Given the description of an element on the screen output the (x, y) to click on. 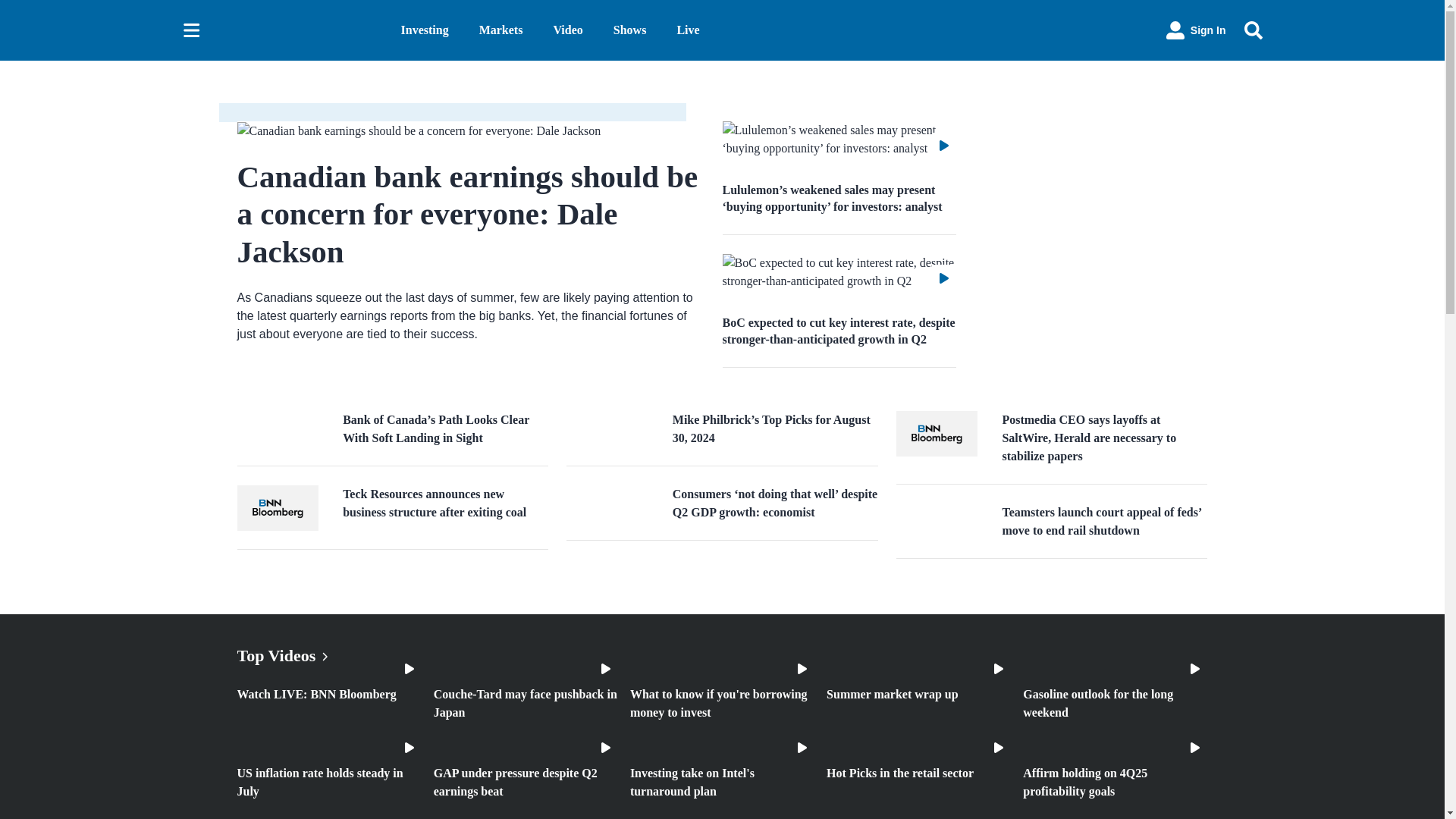
Sign In (1195, 30)
Sections (191, 30)
Investing (424, 30)
Live (687, 30)
Shows (629, 30)
Markets (500, 30)
Video (567, 30)
